Given the description of an element on the screen output the (x, y) to click on. 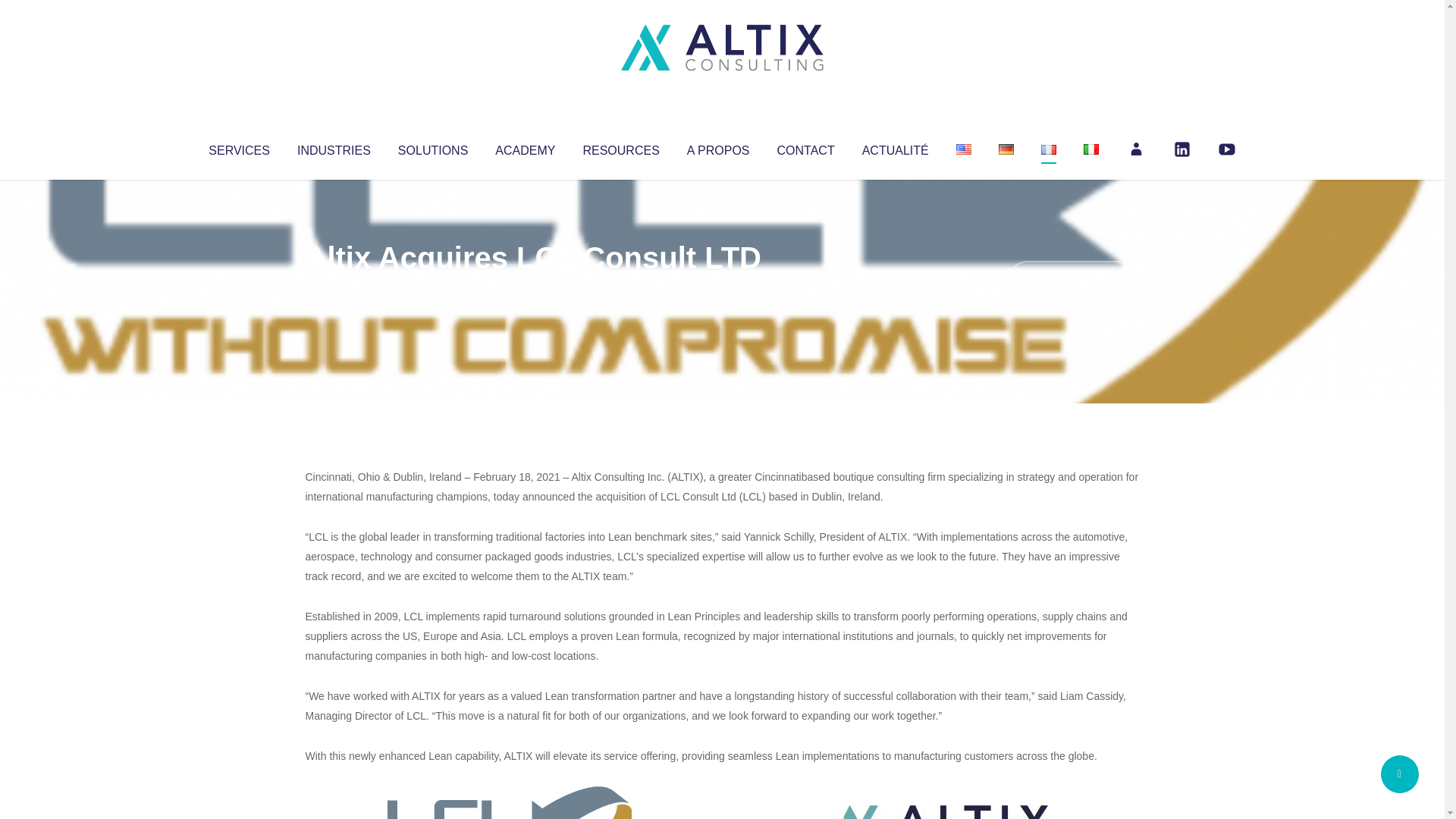
SERVICES (238, 146)
A PROPOS (718, 146)
SOLUTIONS (432, 146)
RESOURCES (620, 146)
No Comments (1073, 278)
INDUSTRIES (334, 146)
Altix (333, 287)
ACADEMY (524, 146)
Uncategorized (530, 287)
Articles par Altix (333, 287)
